Given the description of an element on the screen output the (x, y) to click on. 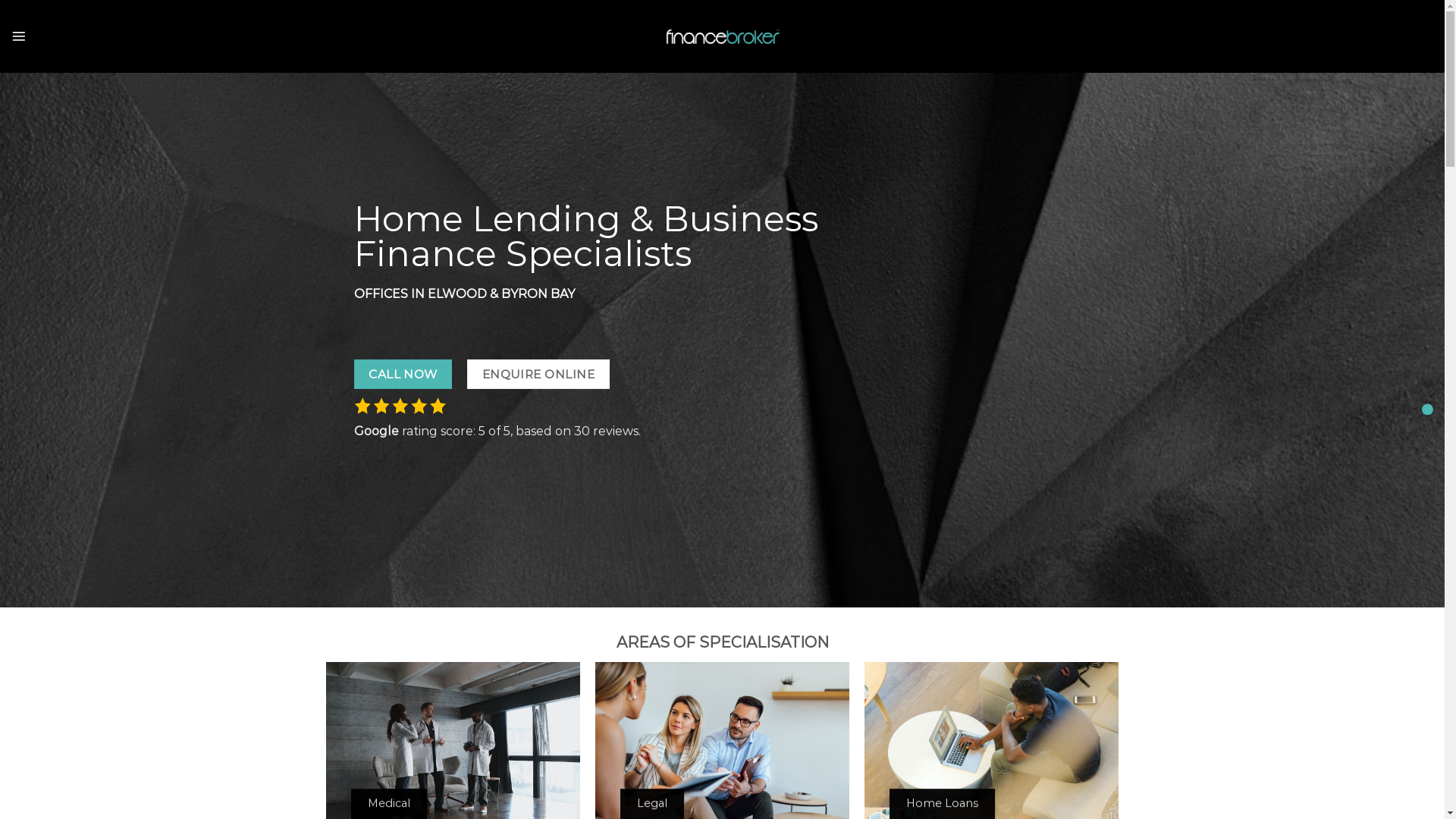
Medical Element type: text (388, 803)
Legal Element type: text (652, 803)
Google Element type: text (375, 430)
Finance Broker Melbourne - Experienced Lending Specialists Element type: hover (722, 35)
Home Loans Element type: text (942, 803)
Apply Online Today Element type: hover (1427, 408)
CALL NOW Element type: text (402, 374)
30 reviews. Element type: text (606, 430)
ENQUIRE ONLINE Element type: text (538, 374)
